Given the description of an element on the screen output the (x, y) to click on. 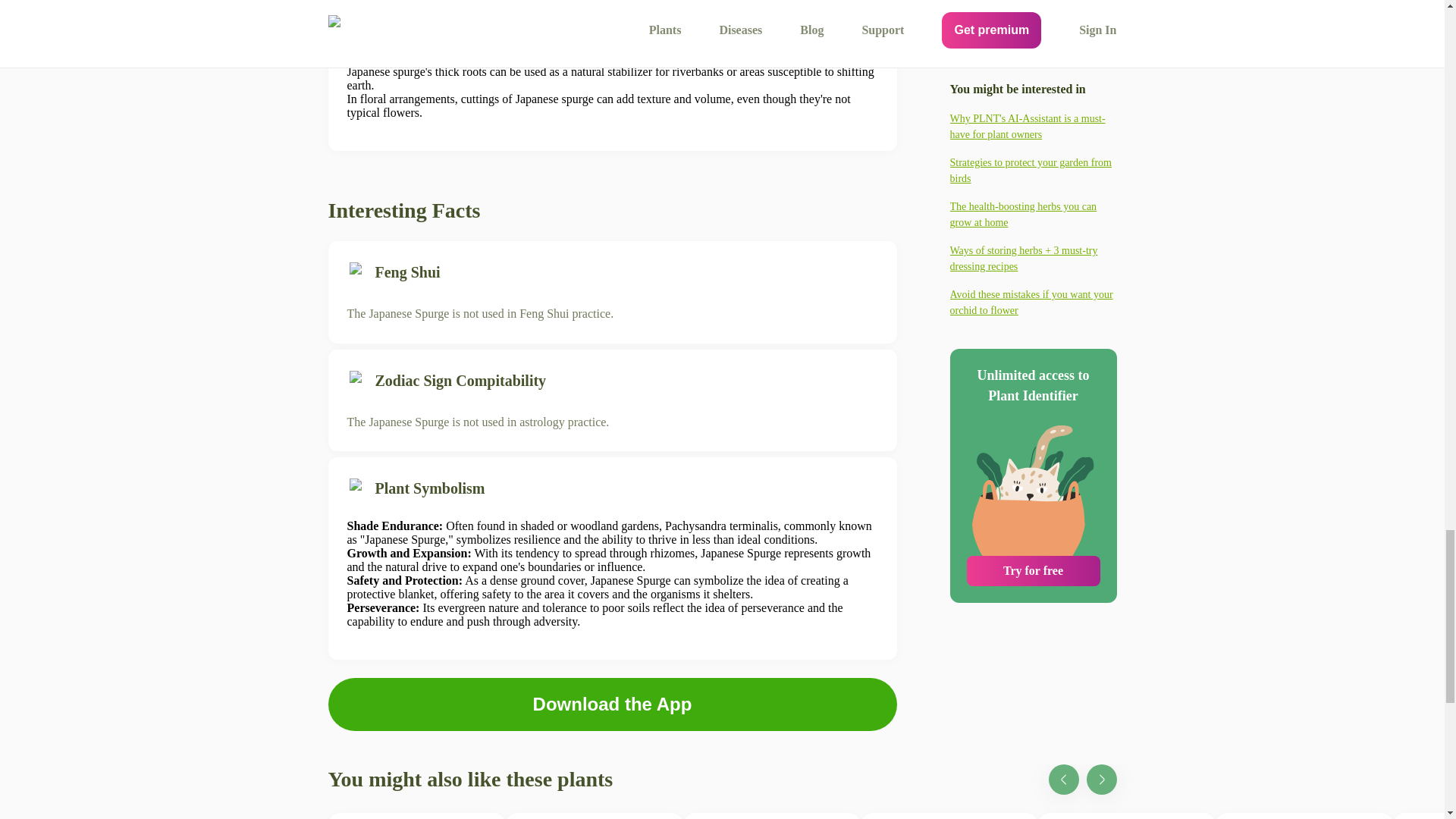
Download the App (593, 816)
Download the App (948, 816)
